Given the description of an element on the screen output the (x, y) to click on. 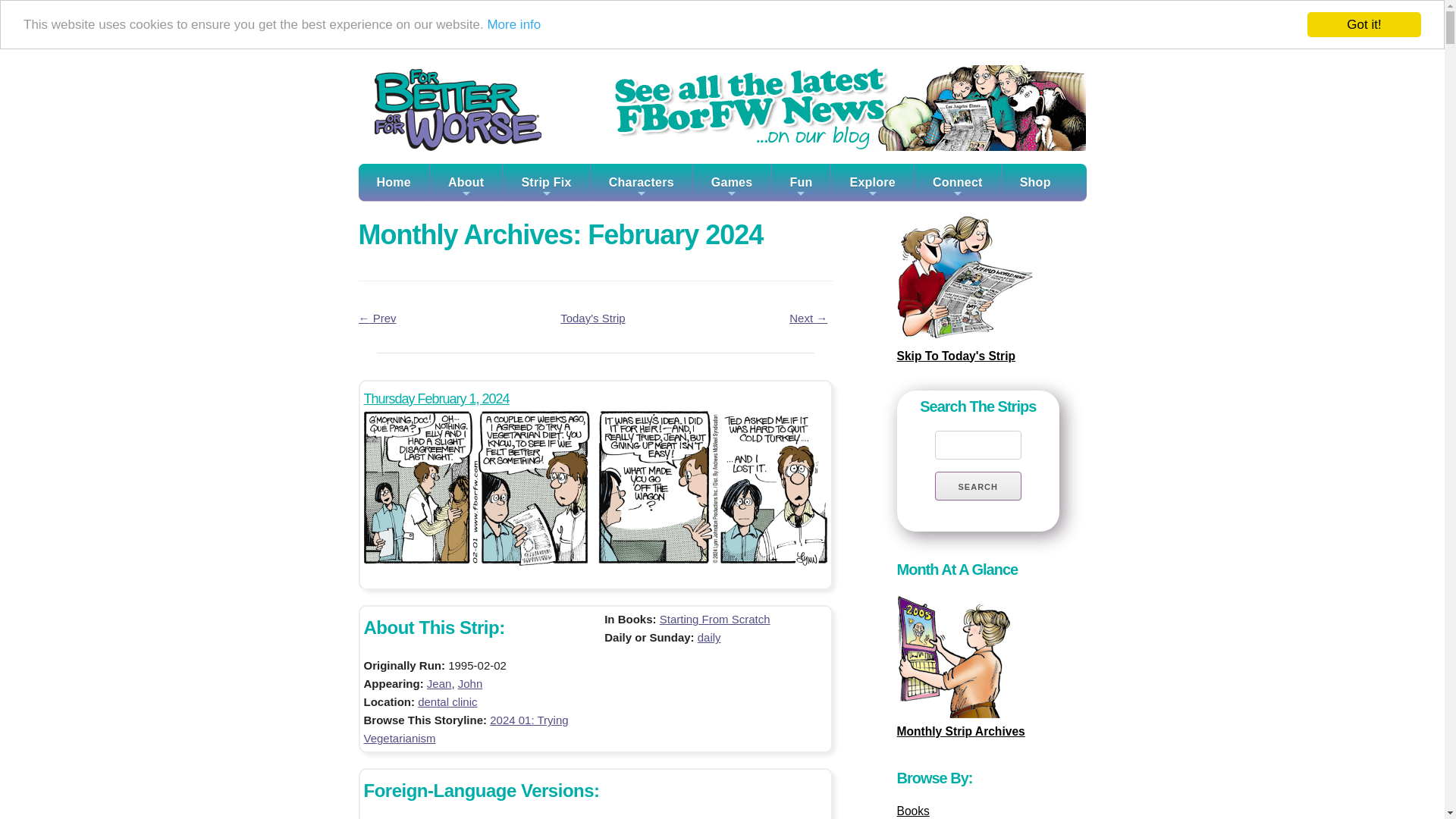
About (465, 168)
Characters (642, 180)
Strip Fix (545, 178)
Search (978, 485)
Games (732, 181)
Home (393, 166)
